Given the description of an element on the screen output the (x, y) to click on. 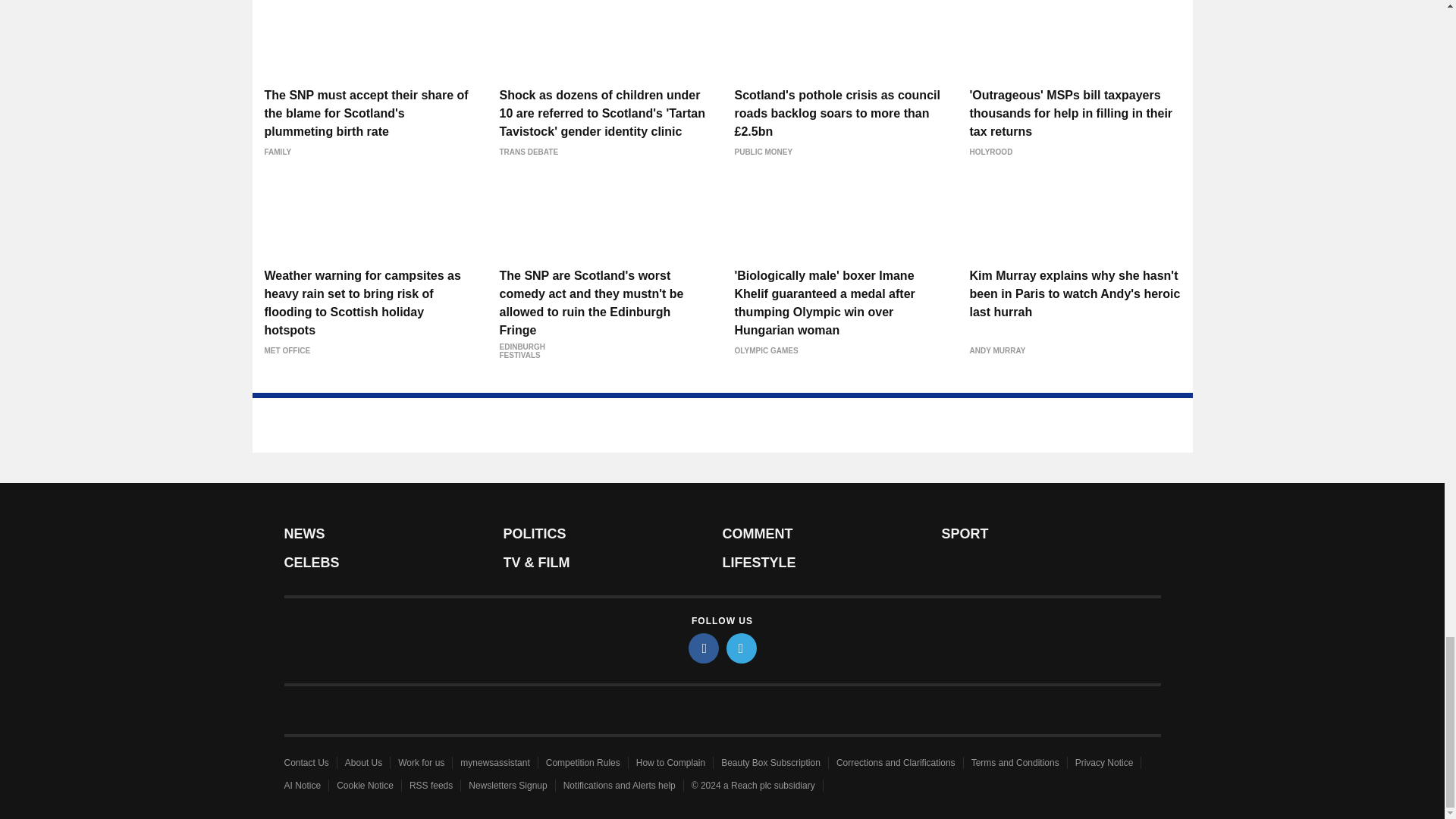
facebook (703, 648)
twitter (741, 648)
